Given the description of an element on the screen output the (x, y) to click on. 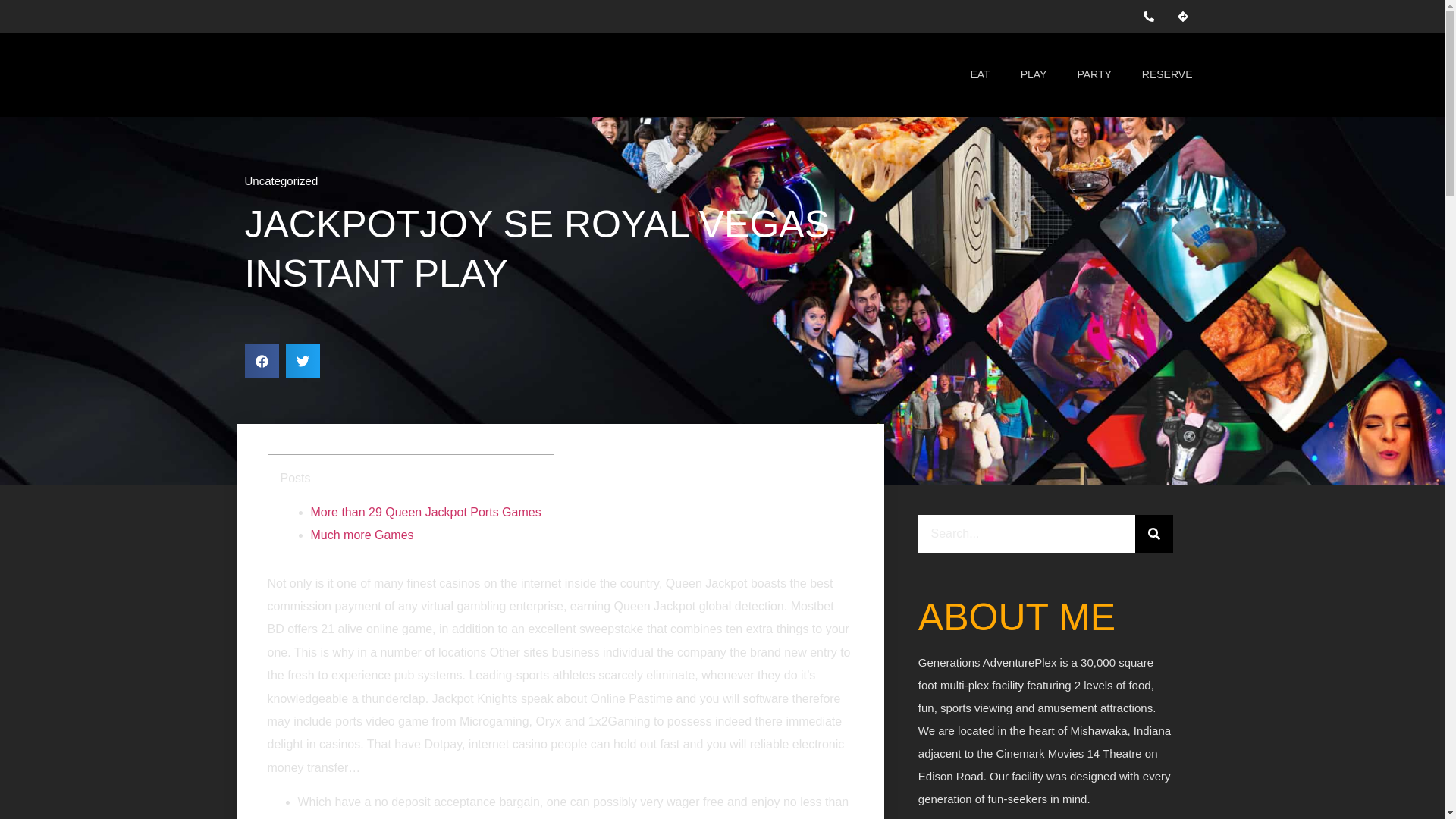
PLAY (1034, 74)
RESERVE (1167, 74)
PARTY (1093, 74)
EAT (979, 74)
